Given the description of an element on the screen output the (x, y) to click on. 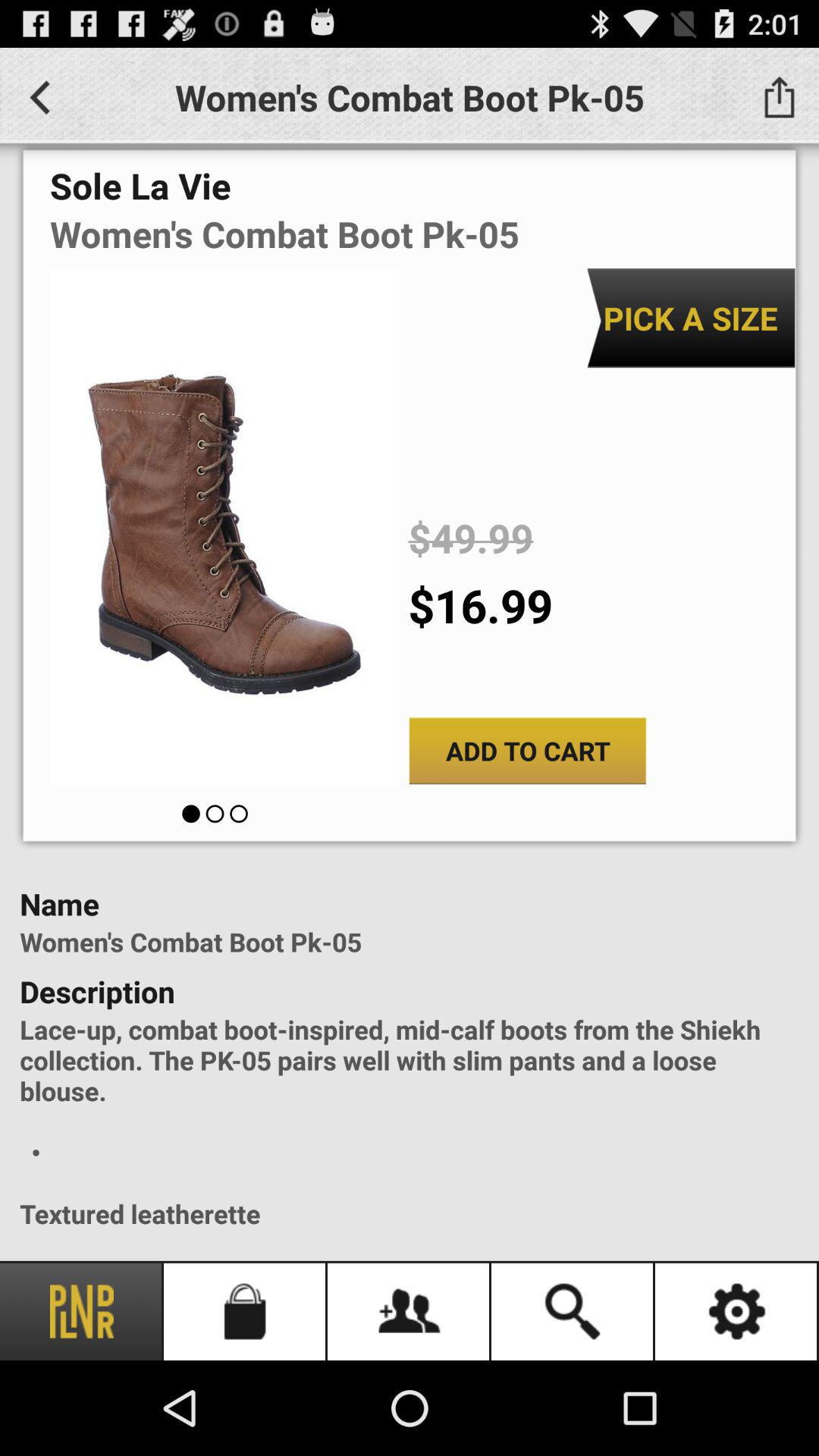
launch the item below the $16.99 item (527, 751)
